Given the description of an element on the screen output the (x, y) to click on. 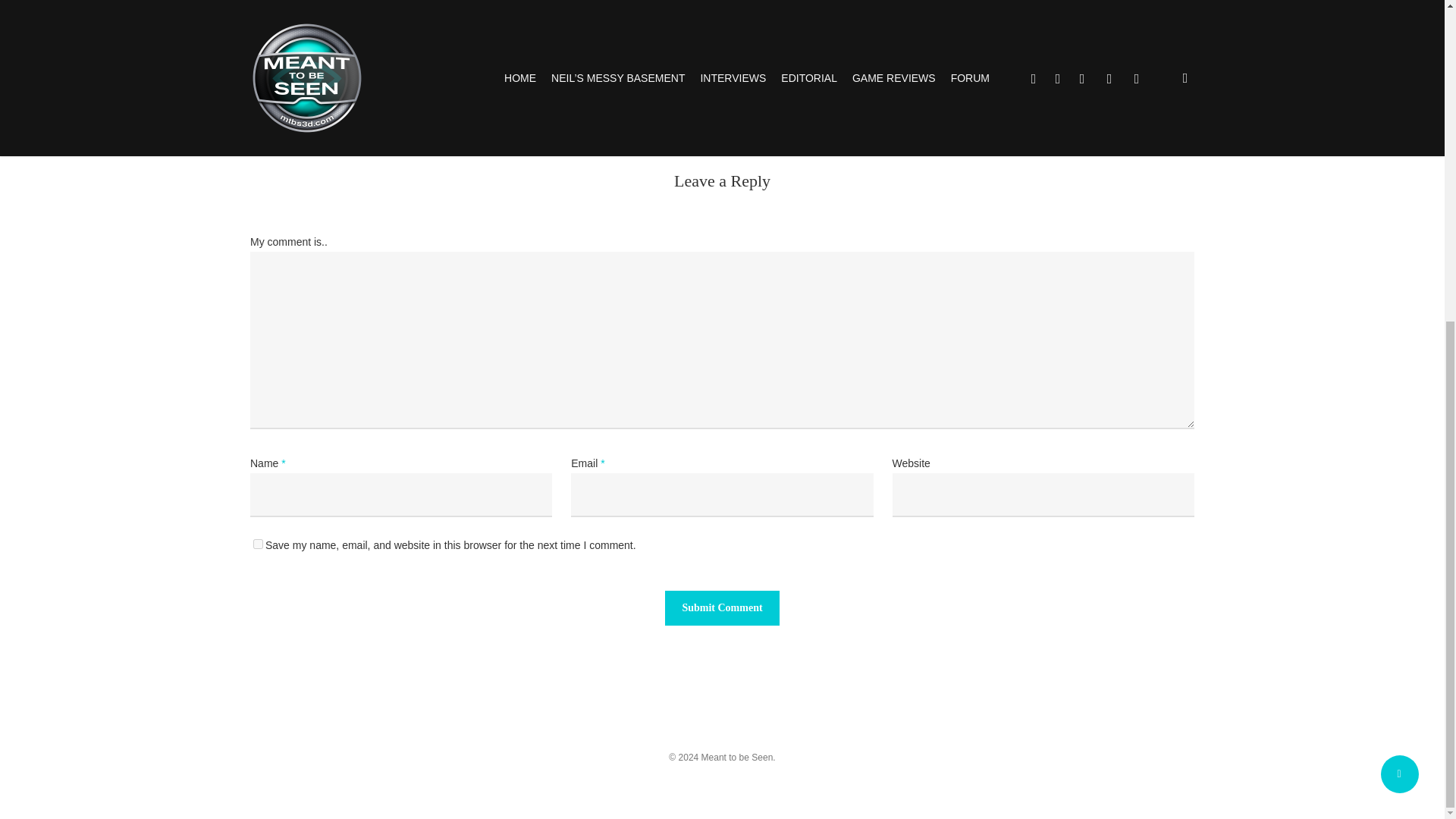
here. (473, 17)
Submit Comment (721, 607)
yes (258, 543)
Submit Comment (721, 607)
